Given the description of an element on the screen output the (x, y) to click on. 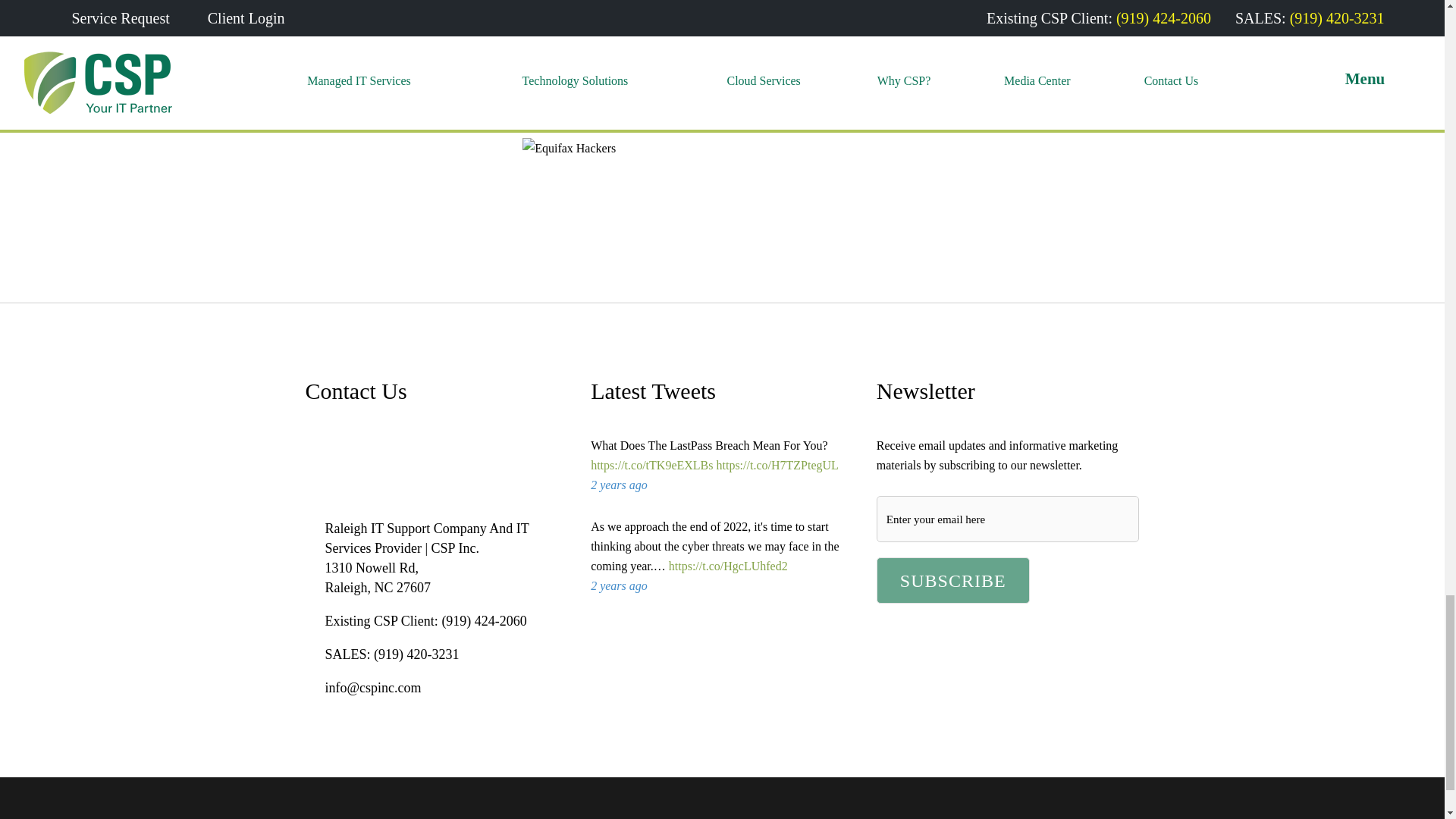
Subscribe (952, 580)
